Given the description of an element on the screen output the (x, y) to click on. 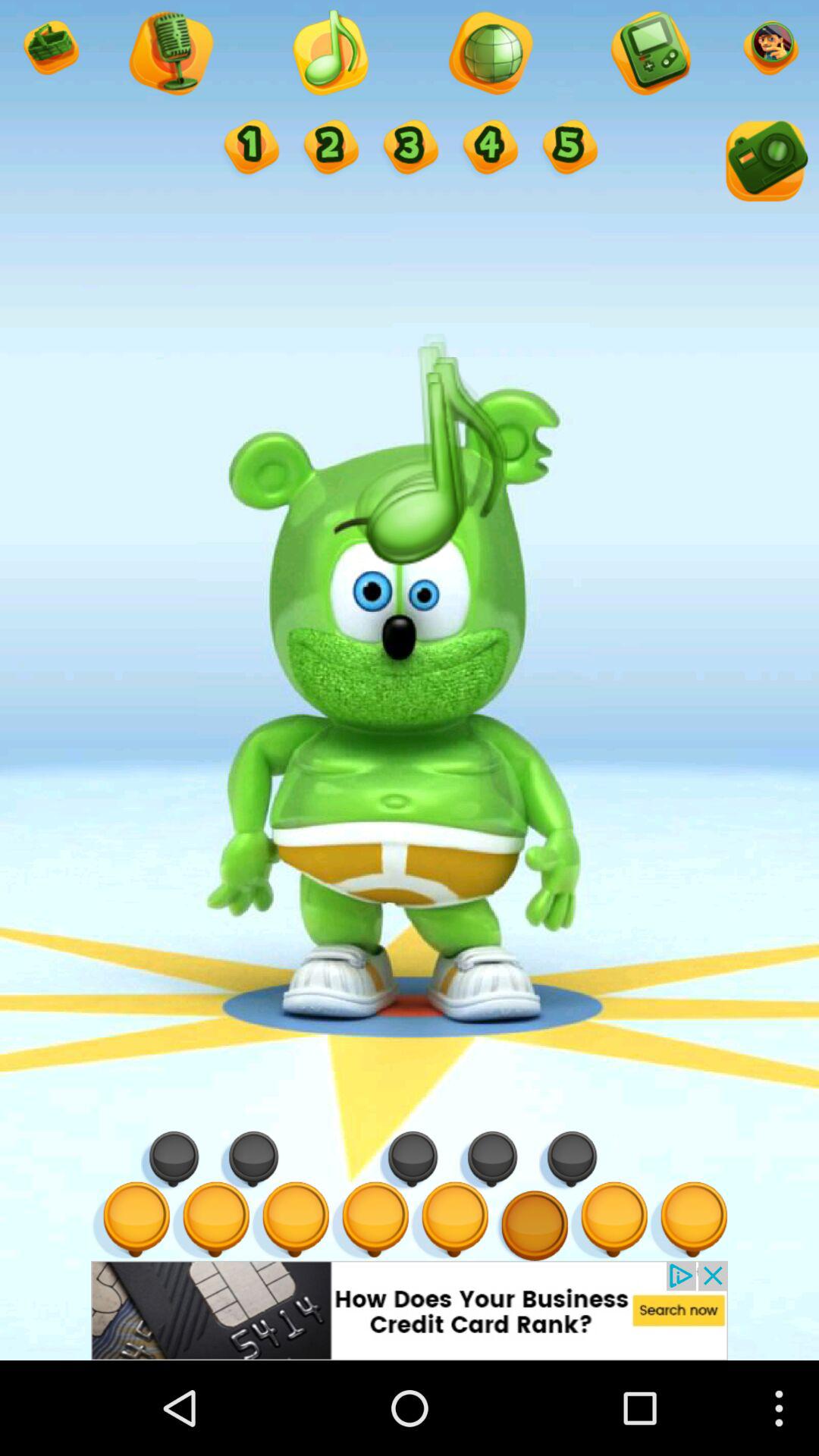
take photo (763, 164)
